Given the description of an element on the screen output the (x, y) to click on. 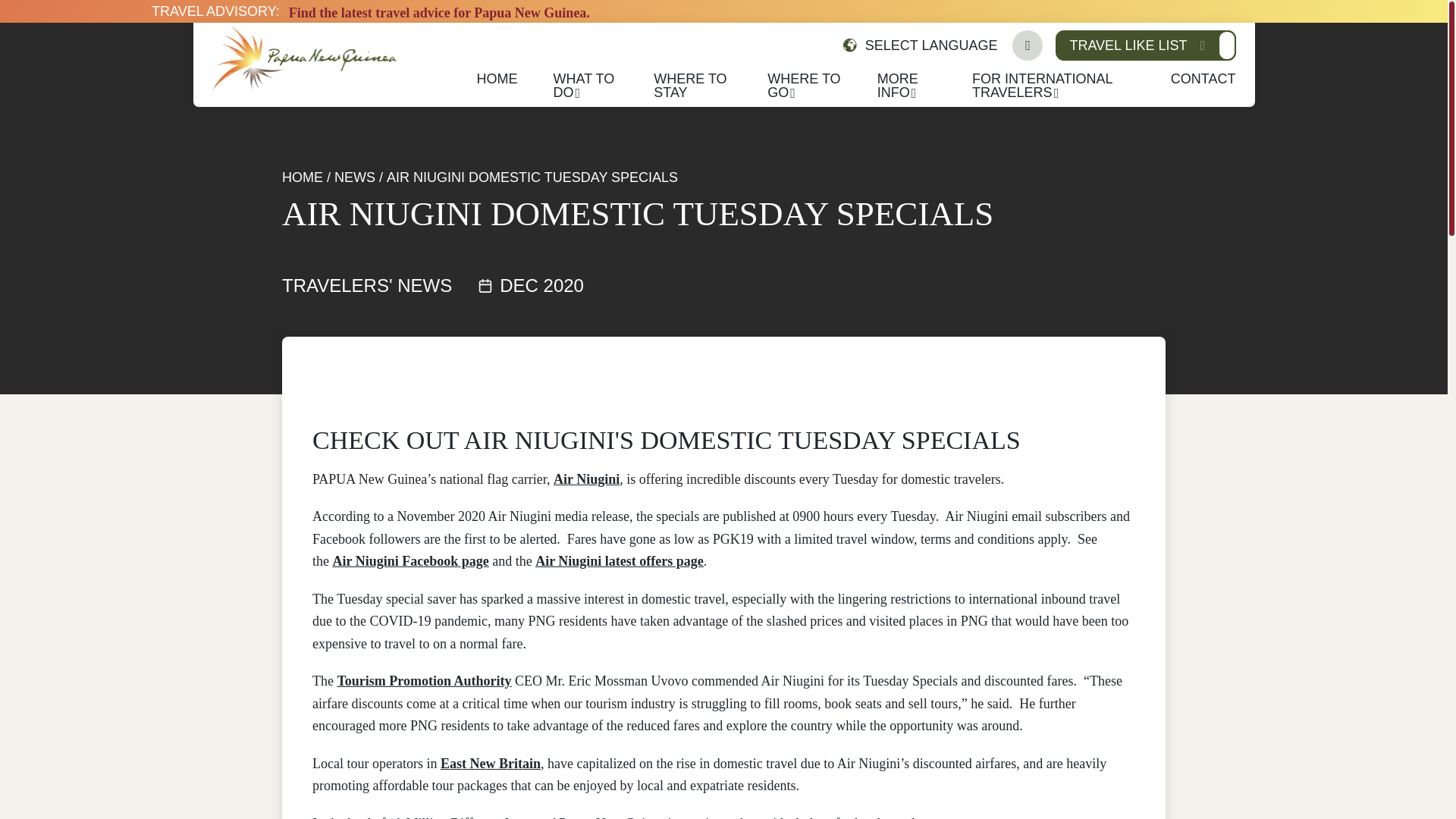
MORE INFO (897, 85)
FOR INTERNATIONAL TRAVELERS (1042, 85)
WHAT TO DO (583, 85)
HOME (496, 78)
WHERE TO STAY (689, 85)
WHERE TO GO (803, 85)
TRAVEL LIKE LIST (1144, 45)
CONTACT (1203, 78)
